Given the description of an element on the screen output the (x, y) to click on. 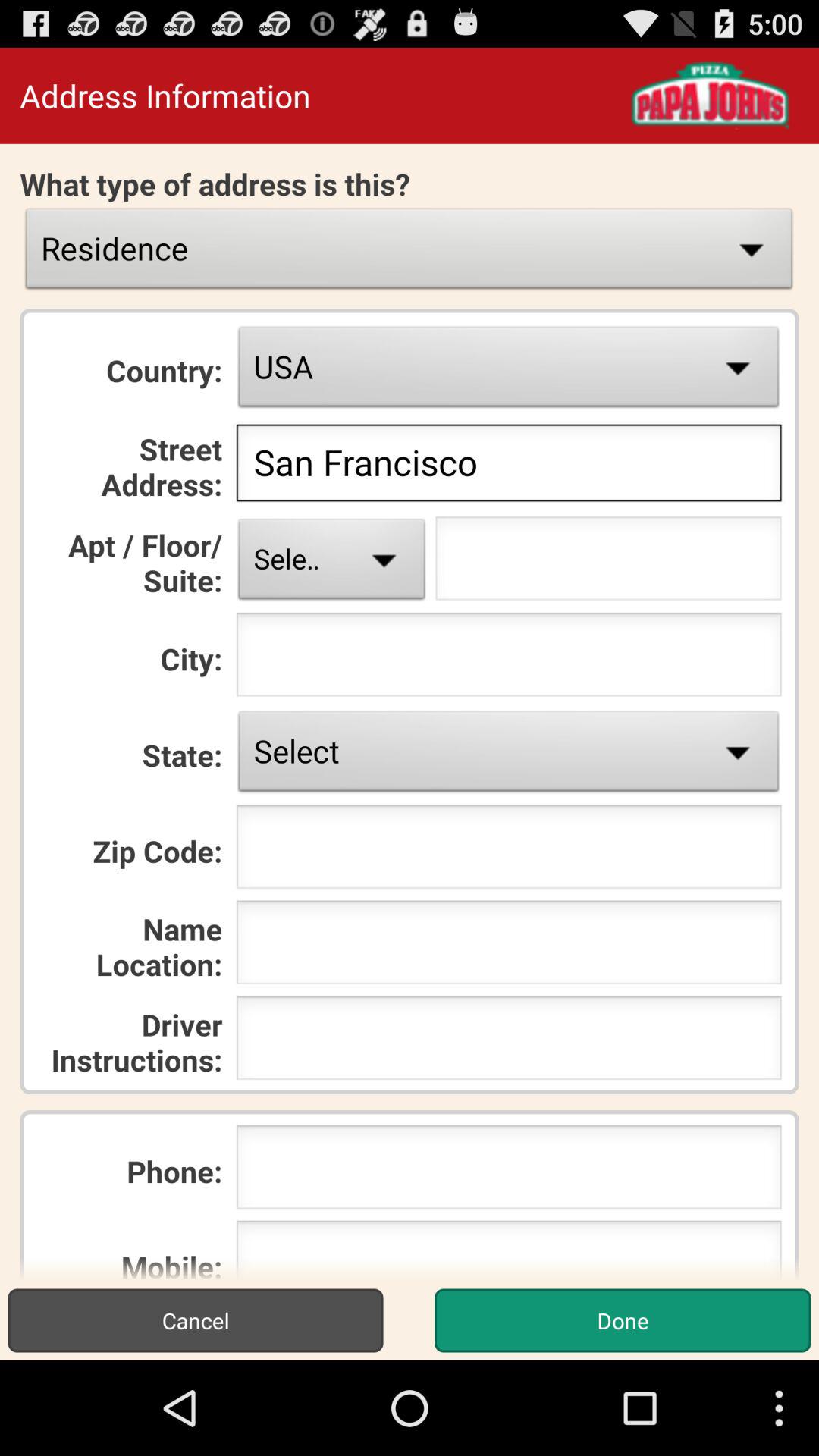
enter phone number (508, 1171)
